Given the description of an element on the screen output the (x, y) to click on. 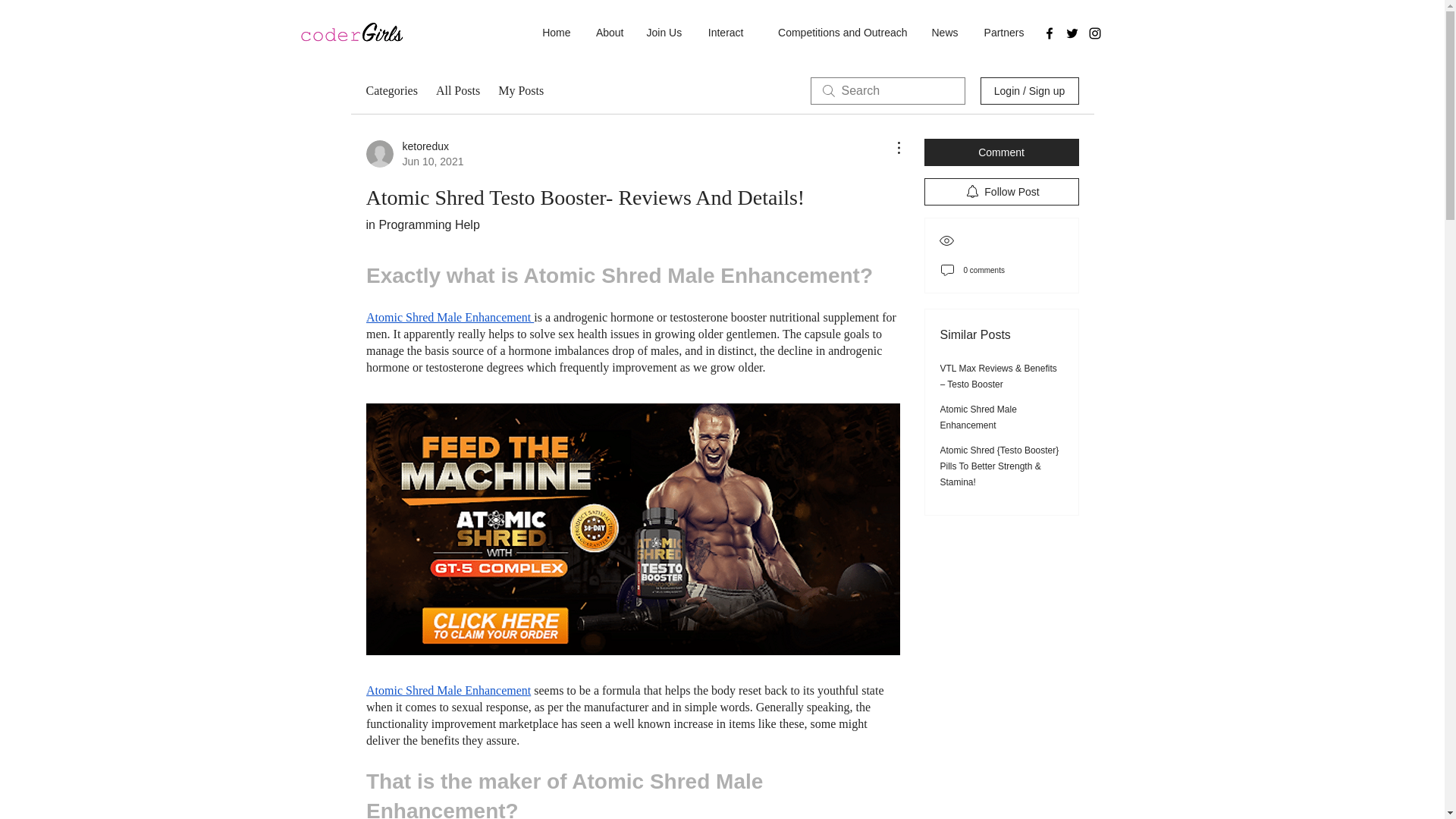
Partners (1002, 32)
Atomic Shred Male Enhancement (447, 689)
in Programming Help (422, 224)
Join Us (663, 32)
Categories (390, 90)
News (943, 32)
Atomic Shred Male Enhancement  (448, 317)
My Posts (520, 90)
Interact (724, 32)
Competitions and Outreach (836, 32)
About (608, 32)
All Posts (457, 90)
Home (554, 32)
